Given the description of an element on the screen output the (x, y) to click on. 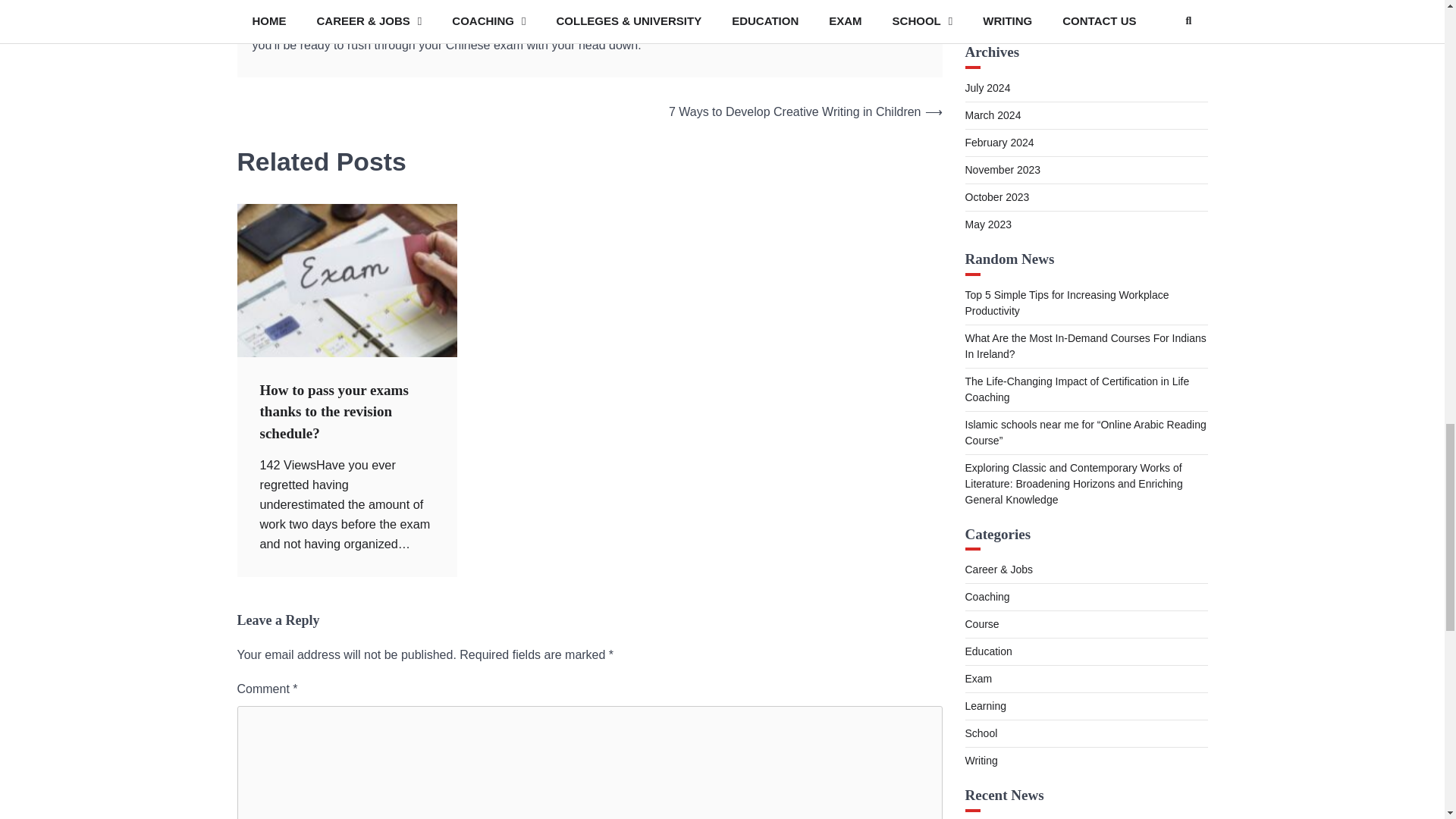
How to pass your exams thanks to the revision schedule? (333, 411)
